Given the description of an element on the screen output the (x, y) to click on. 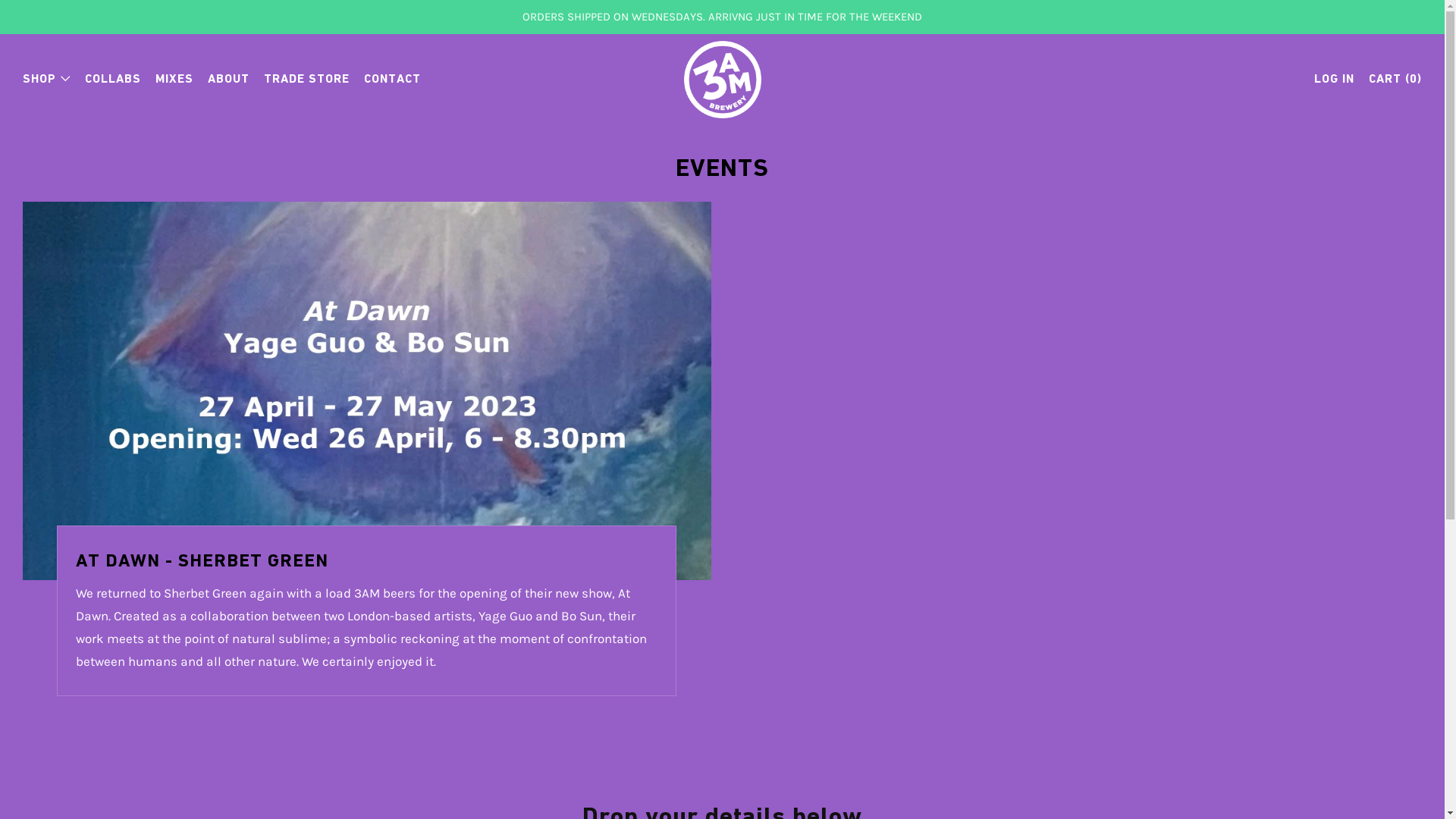
TRADE STORE Element type: text (306, 78)
ABOUT Element type: text (228, 78)
SHOP Element type: text (46, 78)
AT DAWN - SHERBET GREEN Element type: text (366, 560)
CART (0) Element type: text (1394, 78)
COLLABS Element type: text (112, 78)
CONTACT Element type: text (392, 78)
LOG IN Element type: text (1334, 78)
MIXES Element type: text (174, 78)
